Given the description of an element on the screen output the (x, y) to click on. 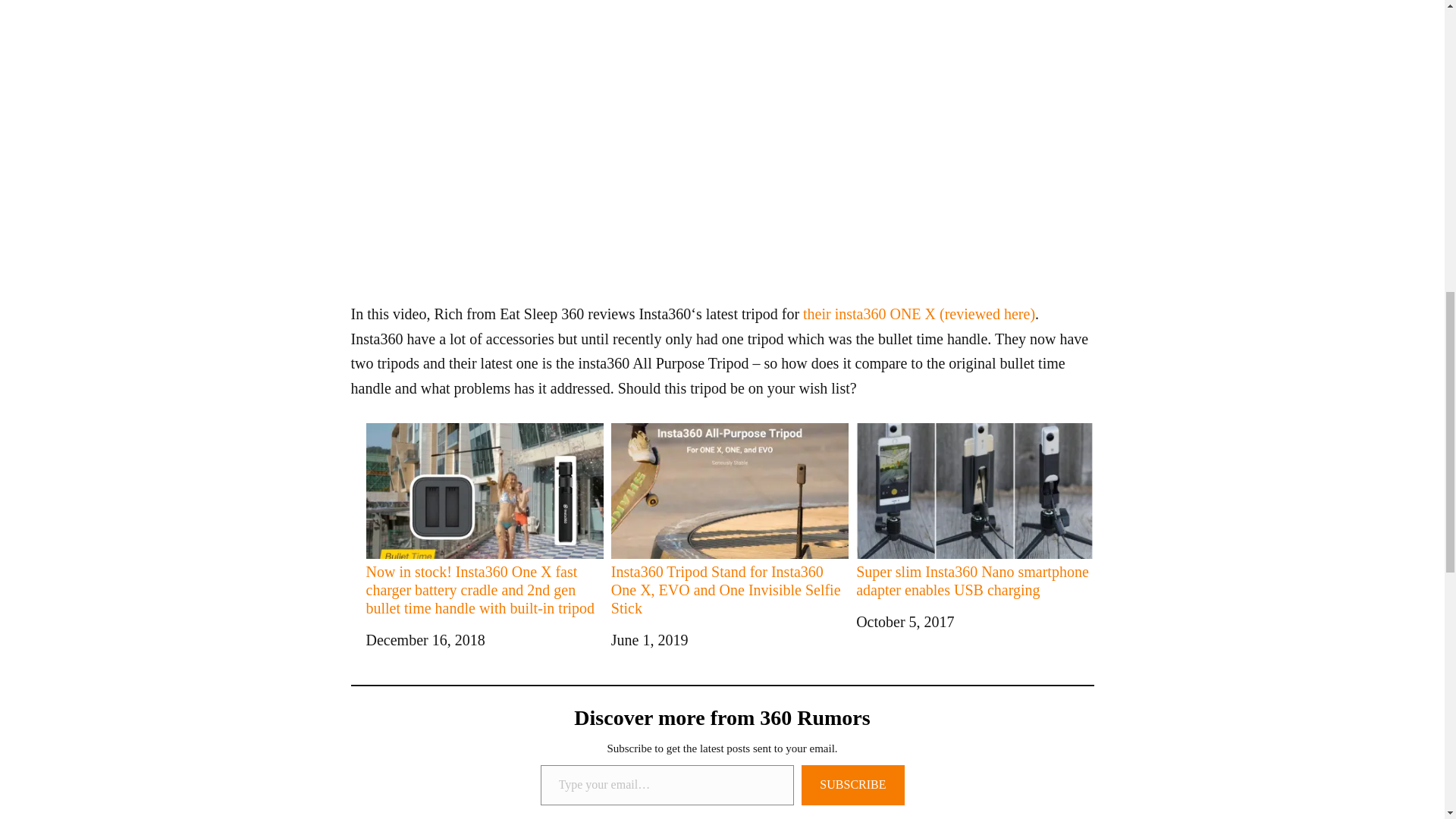
Please fill in this field. (666, 784)
